Given the description of an element on the screen output the (x, y) to click on. 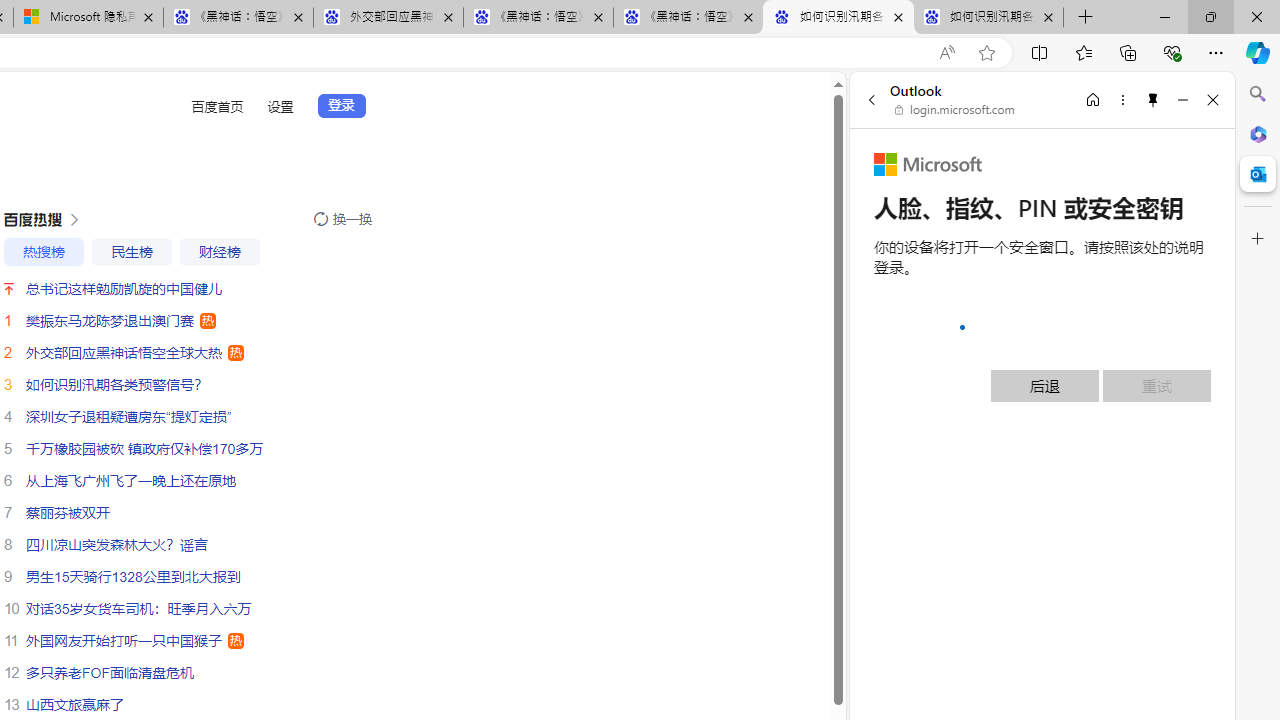
login.microsoft.com (955, 110)
